Given the description of an element on the screen output the (x, y) to click on. 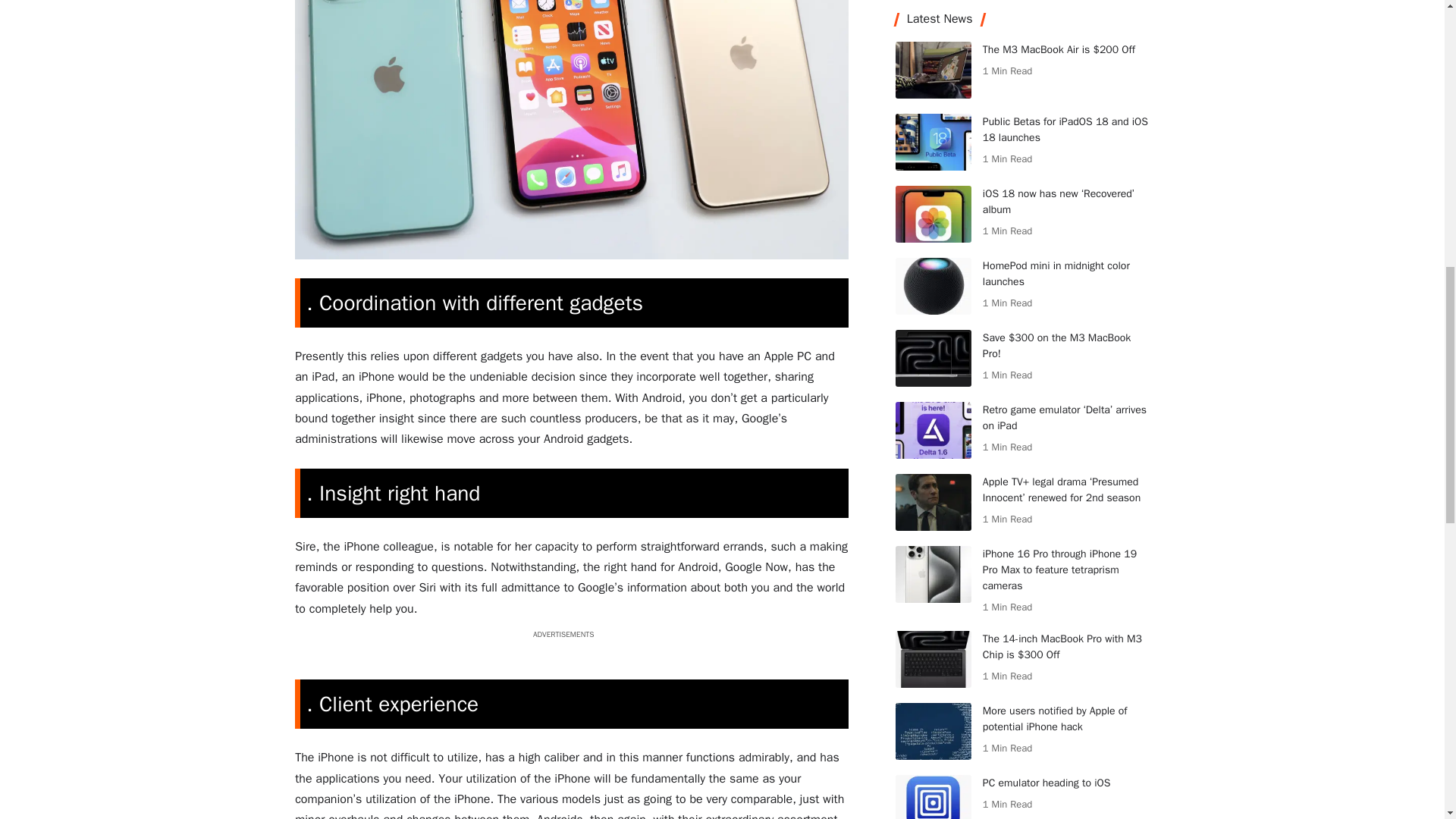
More users notified by Apple of potential iPhone hack (933, 8)
PC emulator heading to iOS (933, 60)
